Given the description of an element on the screen output the (x, y) to click on. 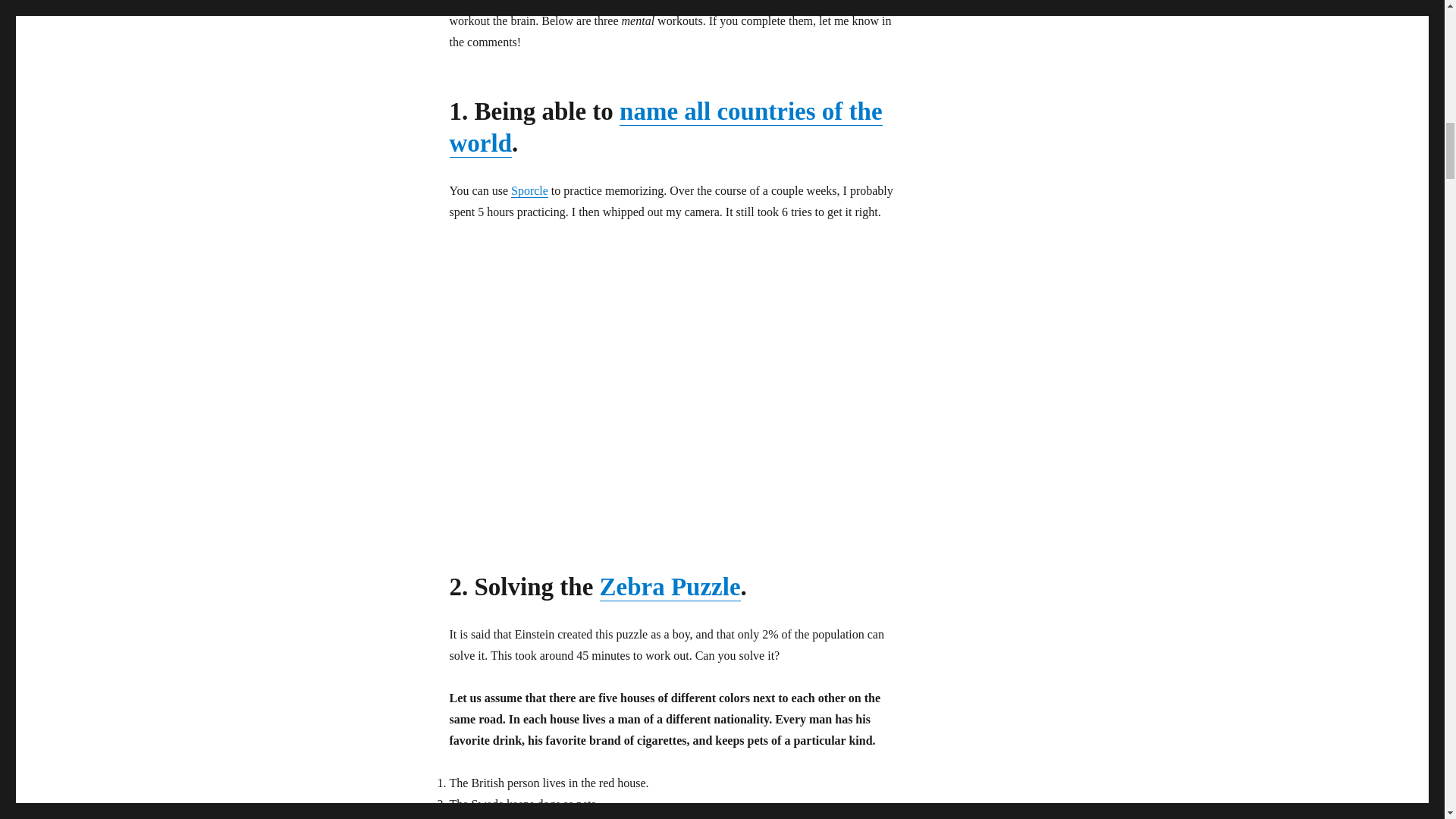
name all countries of the world (665, 127)
Sporcle (529, 190)
Zebra Puzzle (670, 586)
